Given the description of an element on the screen output the (x, y) to click on. 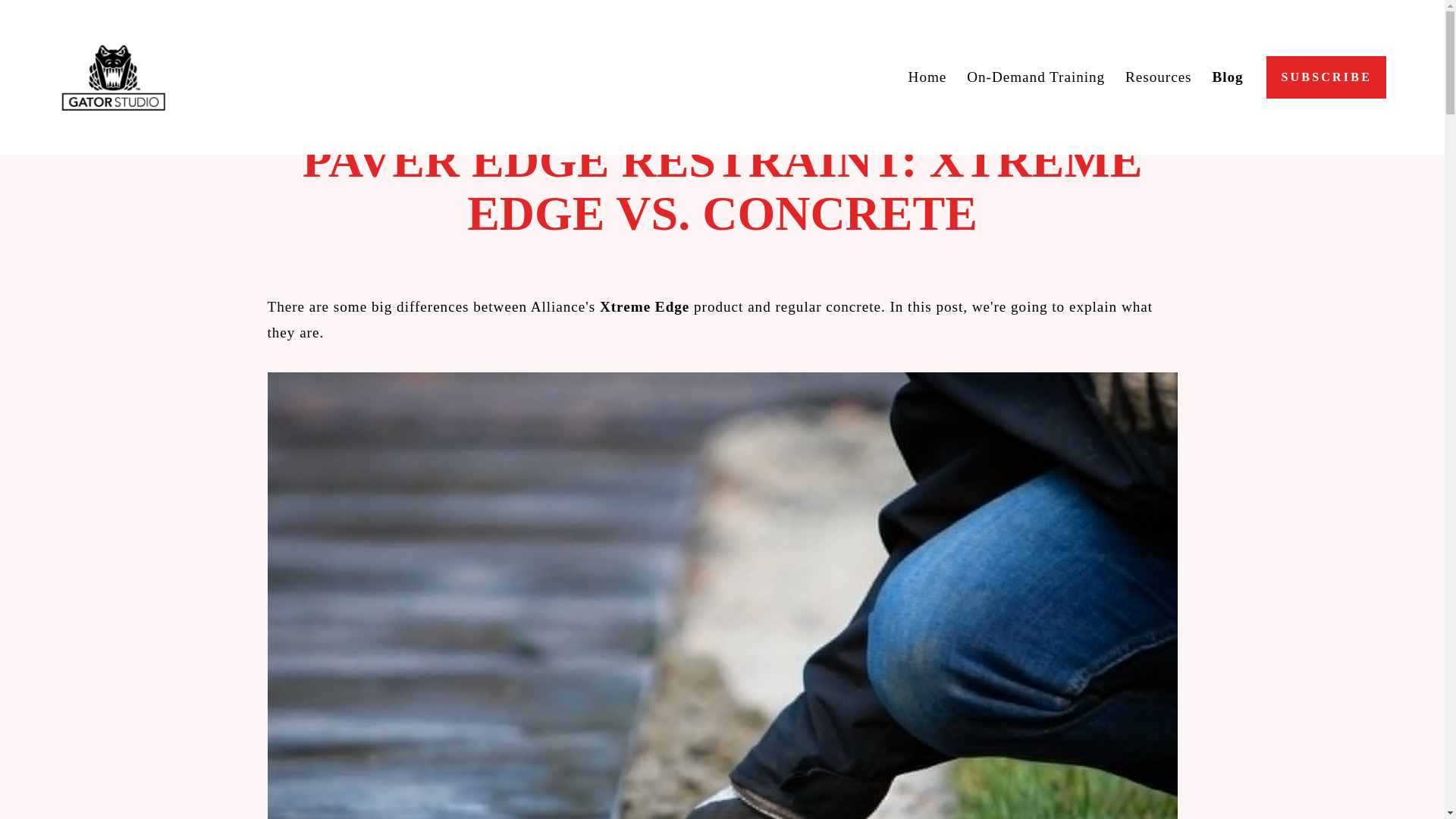
Resources (1158, 77)
Xtreme Edge (643, 306)
SUBSCRIBE (1326, 77)
On-Demand Training (1035, 77)
Blog (1227, 77)
Home (927, 77)
